Given the description of an element on the screen output the (x, y) to click on. 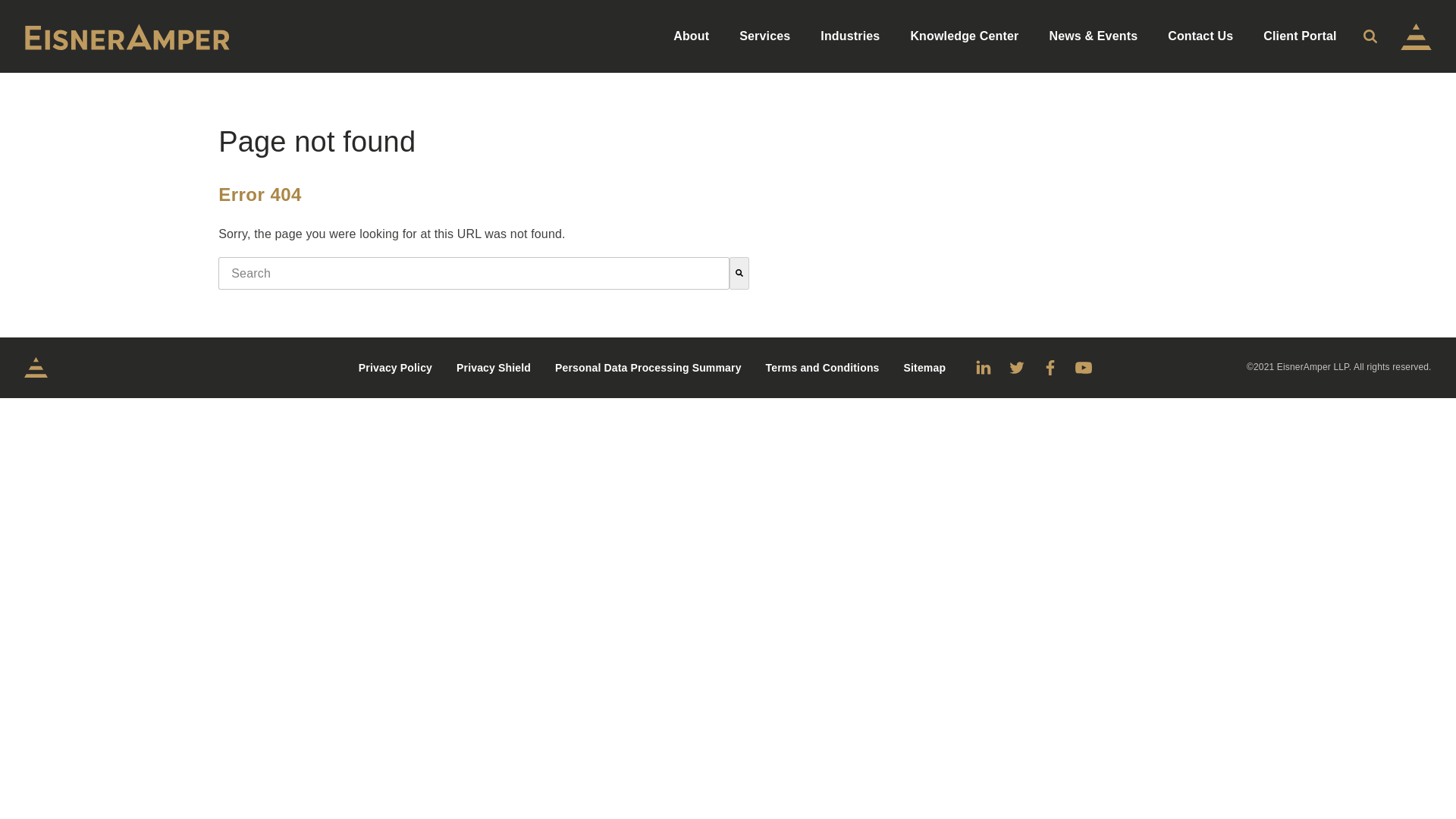
Facebook (1050, 367)
LinkedIn (983, 367)
Twitter (1016, 367)
Search (1370, 36)
Services (764, 35)
YouTube (1083, 367)
About (690, 35)
